Given the description of an element on the screen output the (x, y) to click on. 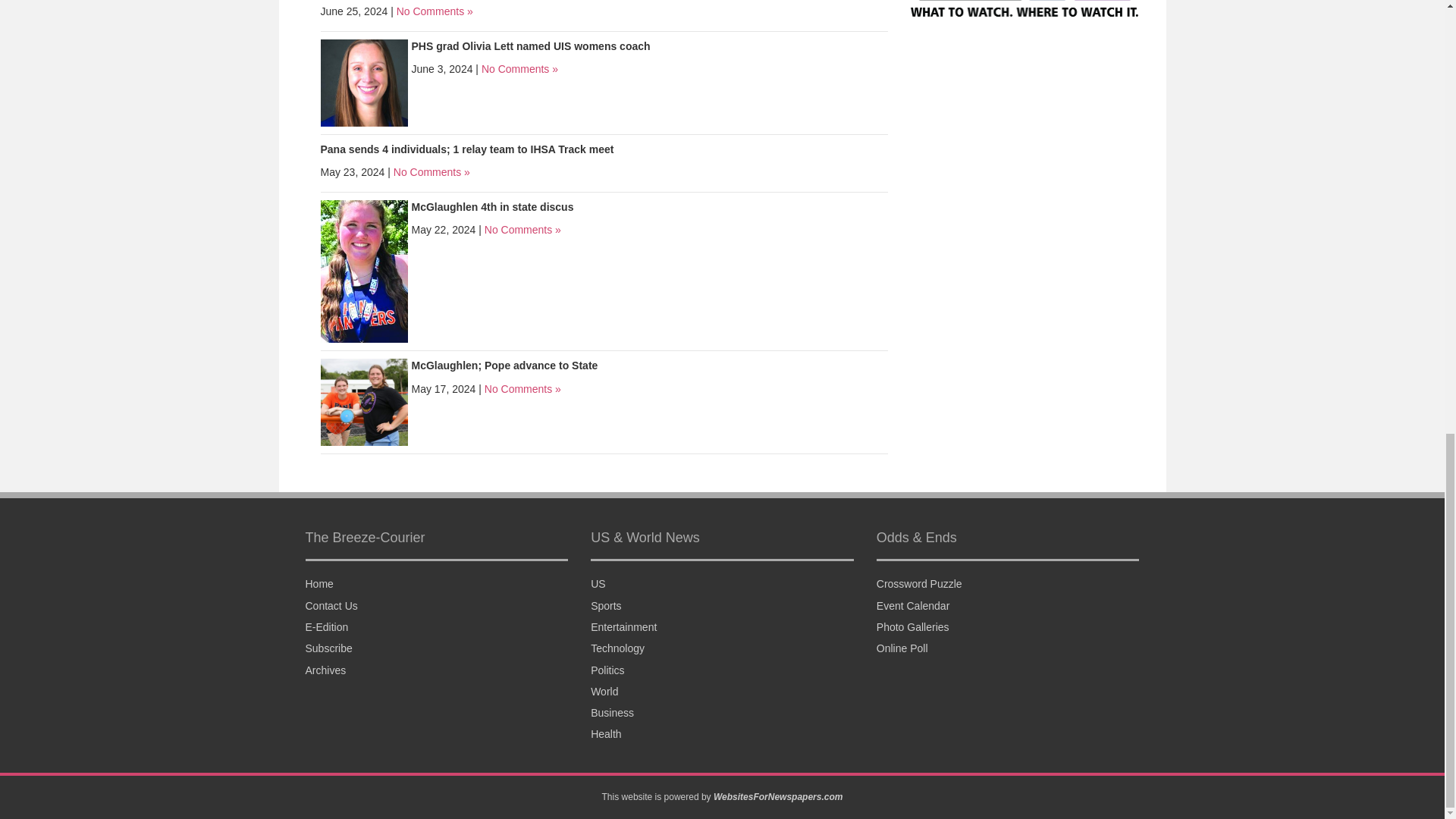
McGlaughlen 4th in state discus (363, 270)
McGlaughlen; Pope advance to State (363, 400)
PHS grad Olivia Lett named UIS womens coach (363, 81)
McGlaughlen 4th in state discus (491, 206)
McGlaughlen; Pope advance to State (503, 365)
Pana sends 4 individuals; 1 relay team to IHSA Track meet (466, 149)
PHS grad Olivia Lett named UIS womens coach (529, 46)
